Given the description of an element on the screen output the (x, y) to click on. 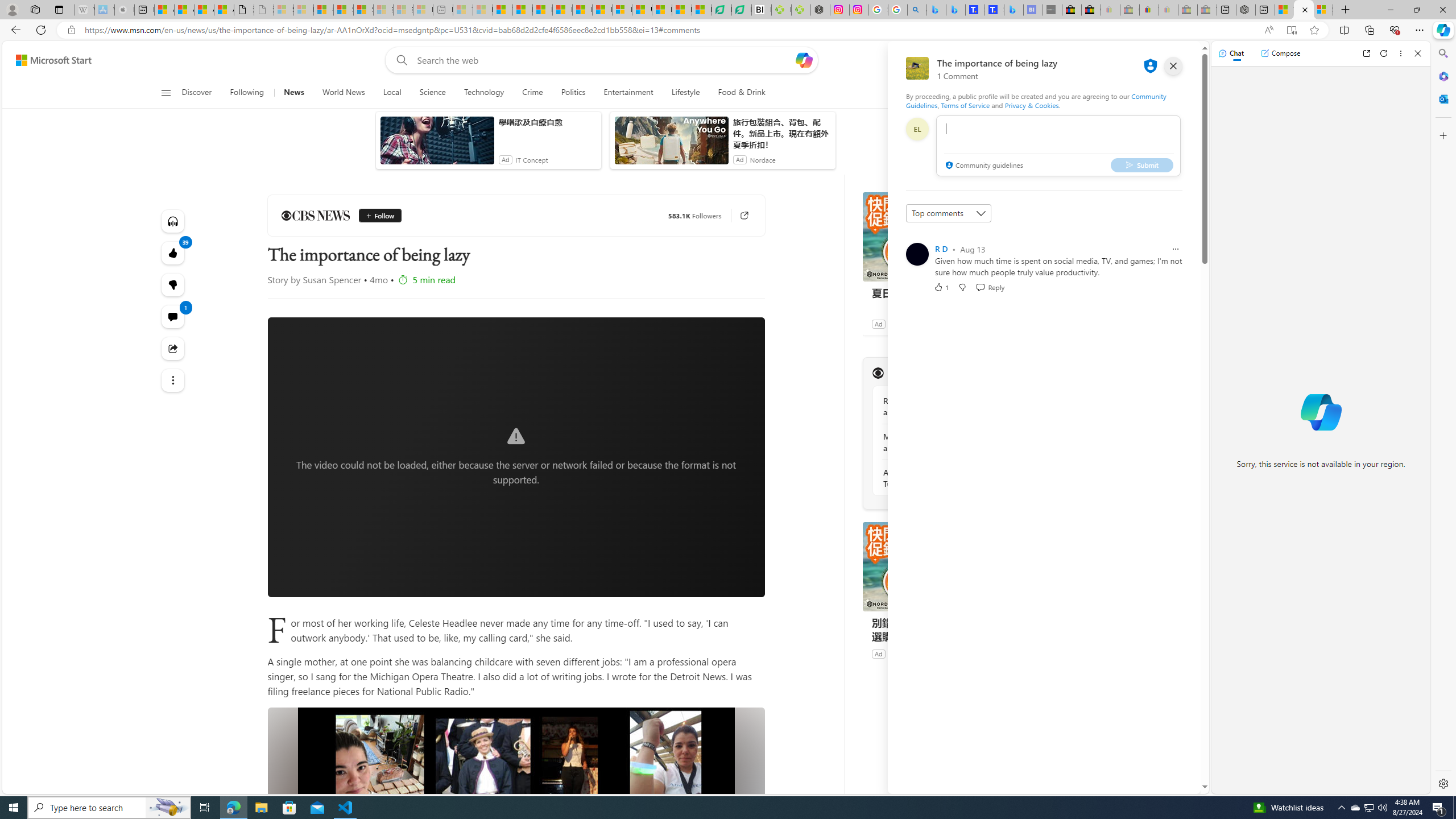
Listen to this article (172, 220)
Submit (1141, 164)
Yard, Garden & Outdoor Living - Sleeping (1206, 9)
close (1173, 65)
The importance of being lazy (1303, 9)
